Given the description of an element on the screen output the (x, y) to click on. 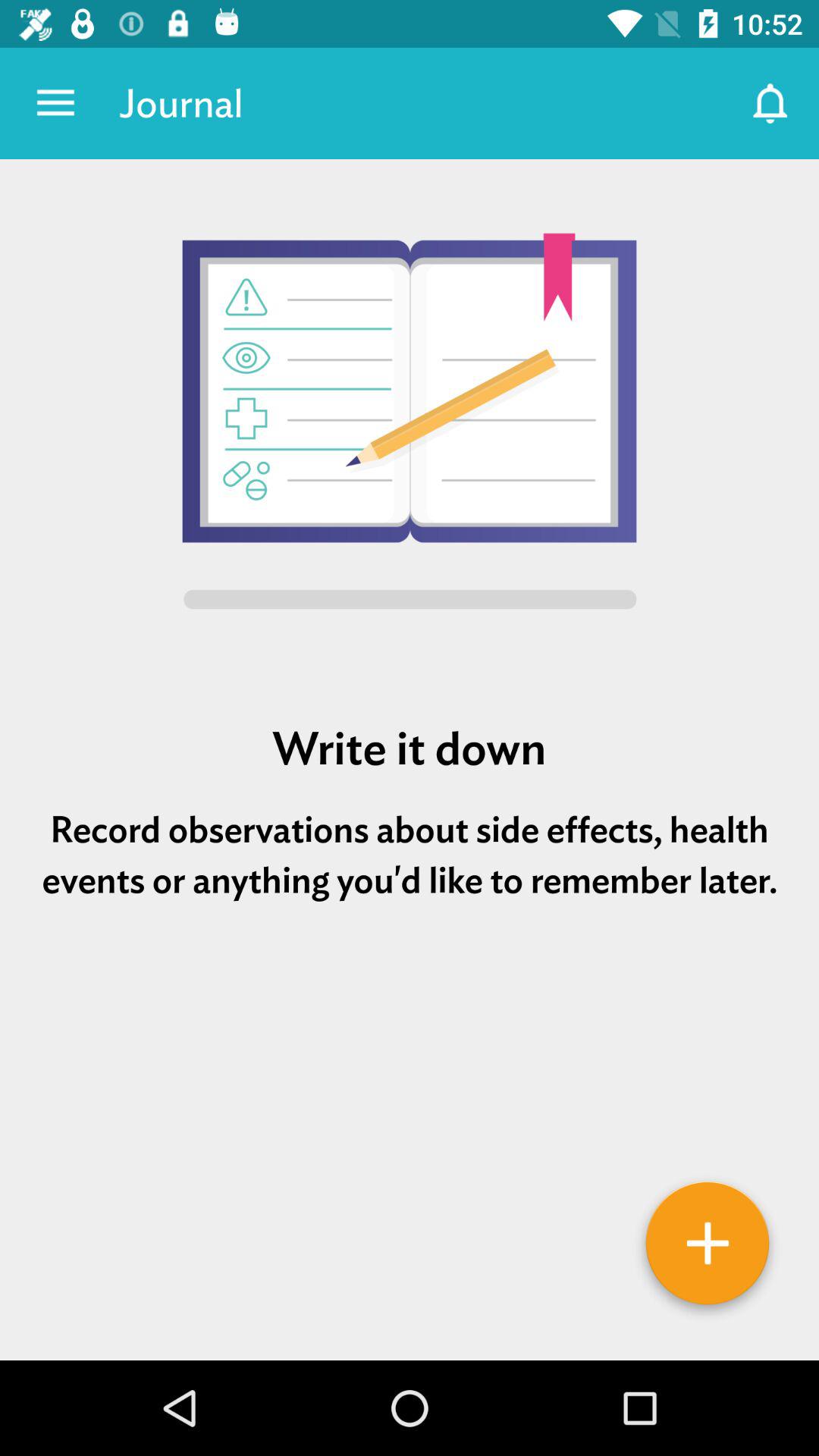
click the icon at the top right corner (771, 103)
